Given the description of an element on the screen output the (x, y) to click on. 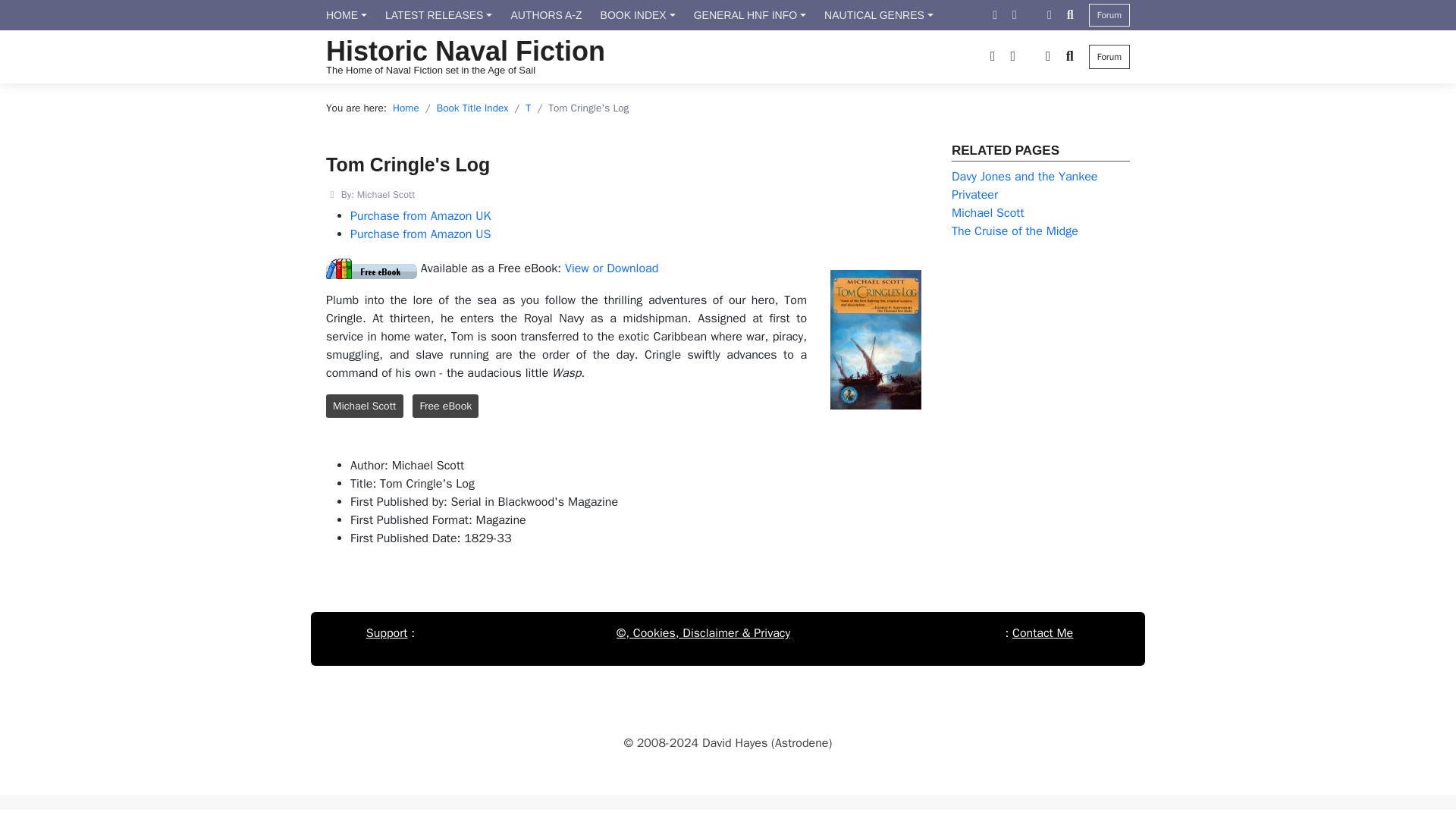
Historic Naval Fiction (465, 51)
AUTHORS A-Z (545, 15)
